Given the description of an element on the screen output the (x, y) to click on. 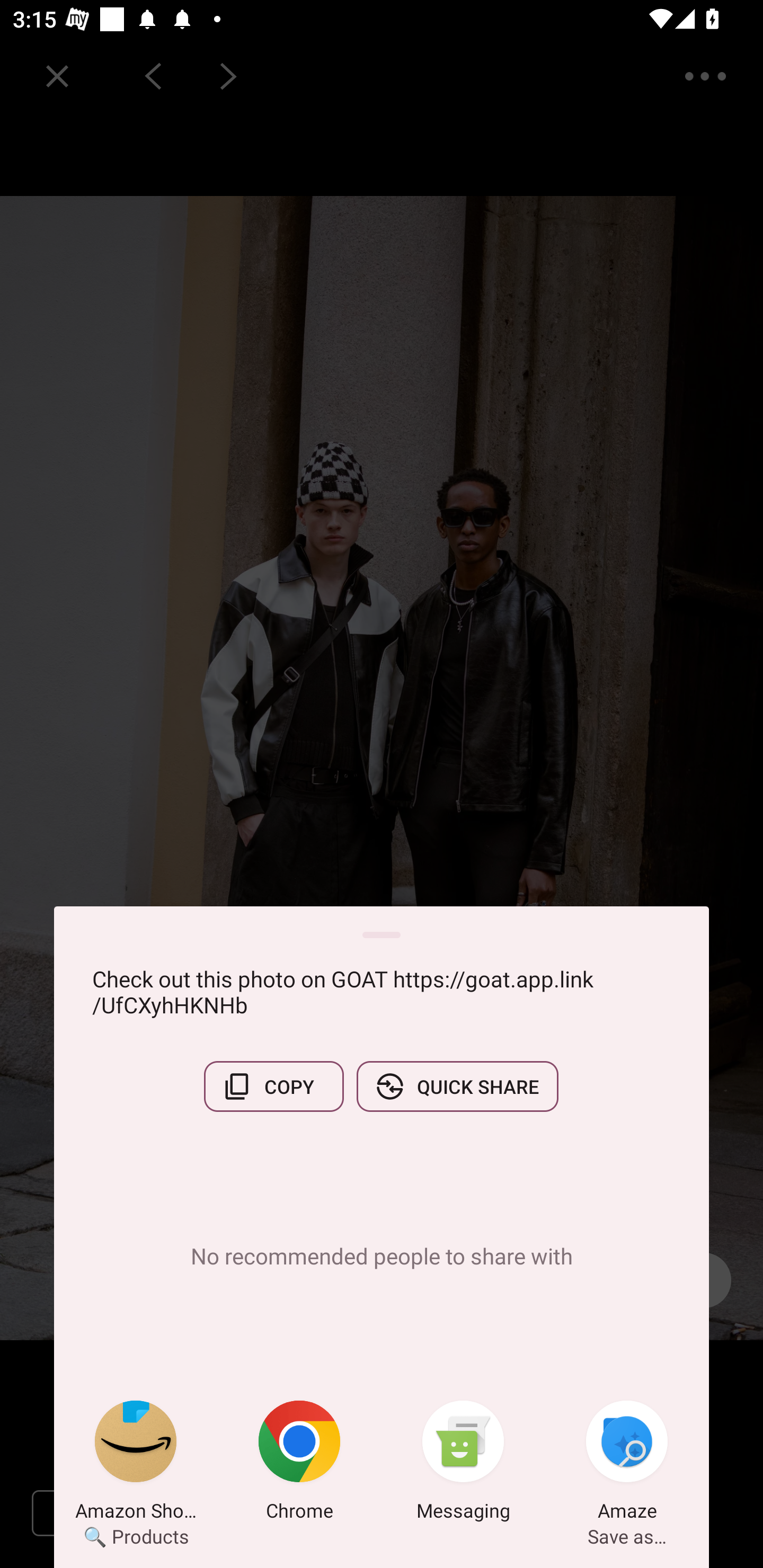
COPY (273, 1086)
QUICK SHARE (457, 1086)
Amazon Shopping 🔍 Products (135, 1463)
Chrome (299, 1463)
Messaging (463, 1463)
Amaze Save as… (626, 1463)
